Given the description of an element on the screen output the (x, y) to click on. 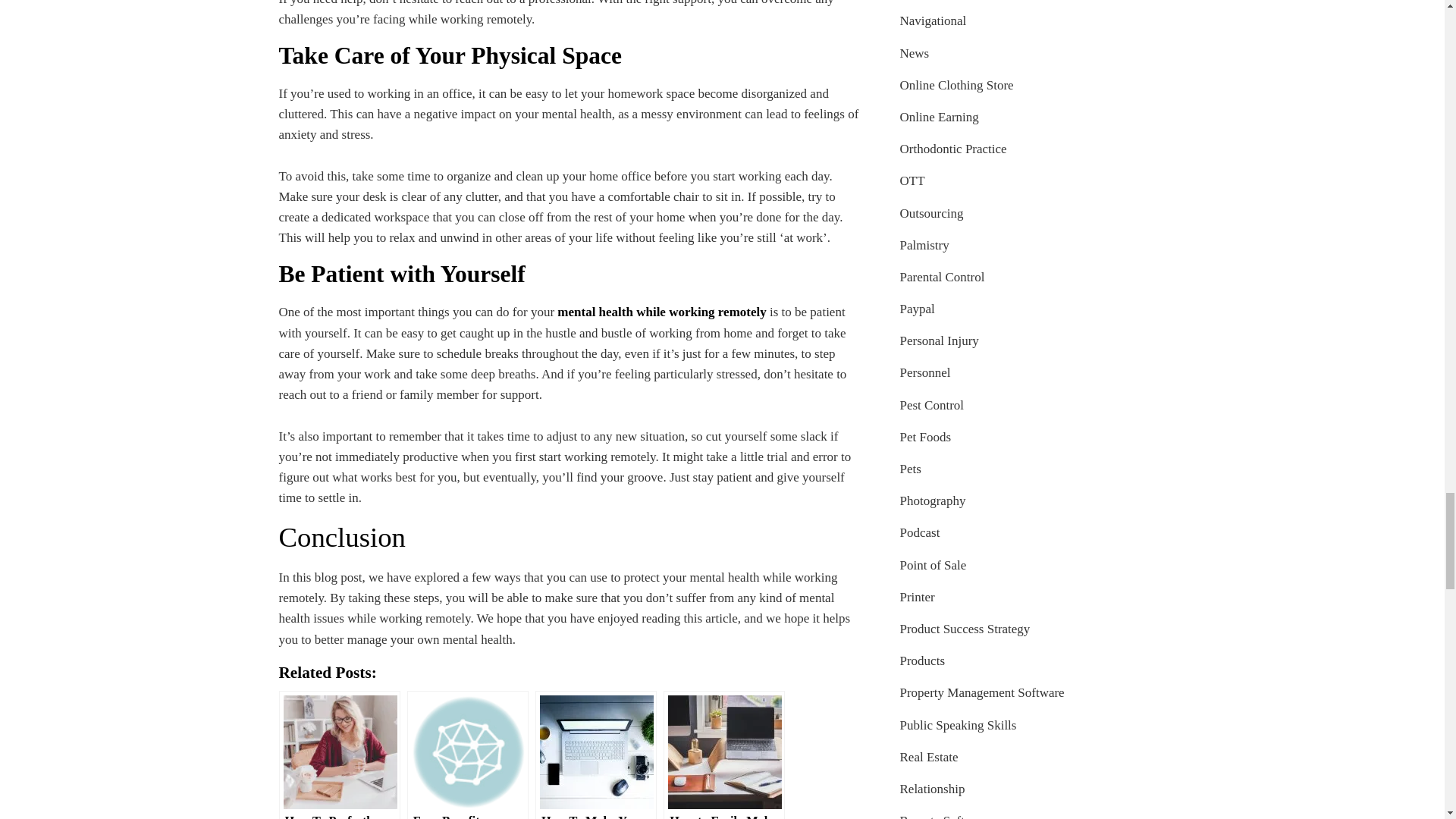
How To Make Your Home Office More Practical And Convenient (595, 755)
mental health while working remotely (661, 311)
How To Perfectly And Easily Set Up An Efficient Home Office (339, 755)
How To Perfectly And Easily Set Up An Efficient Home Office (339, 755)
How to Easily Make a Great Home Office (723, 755)
